Given the description of an element on the screen output the (x, y) to click on. 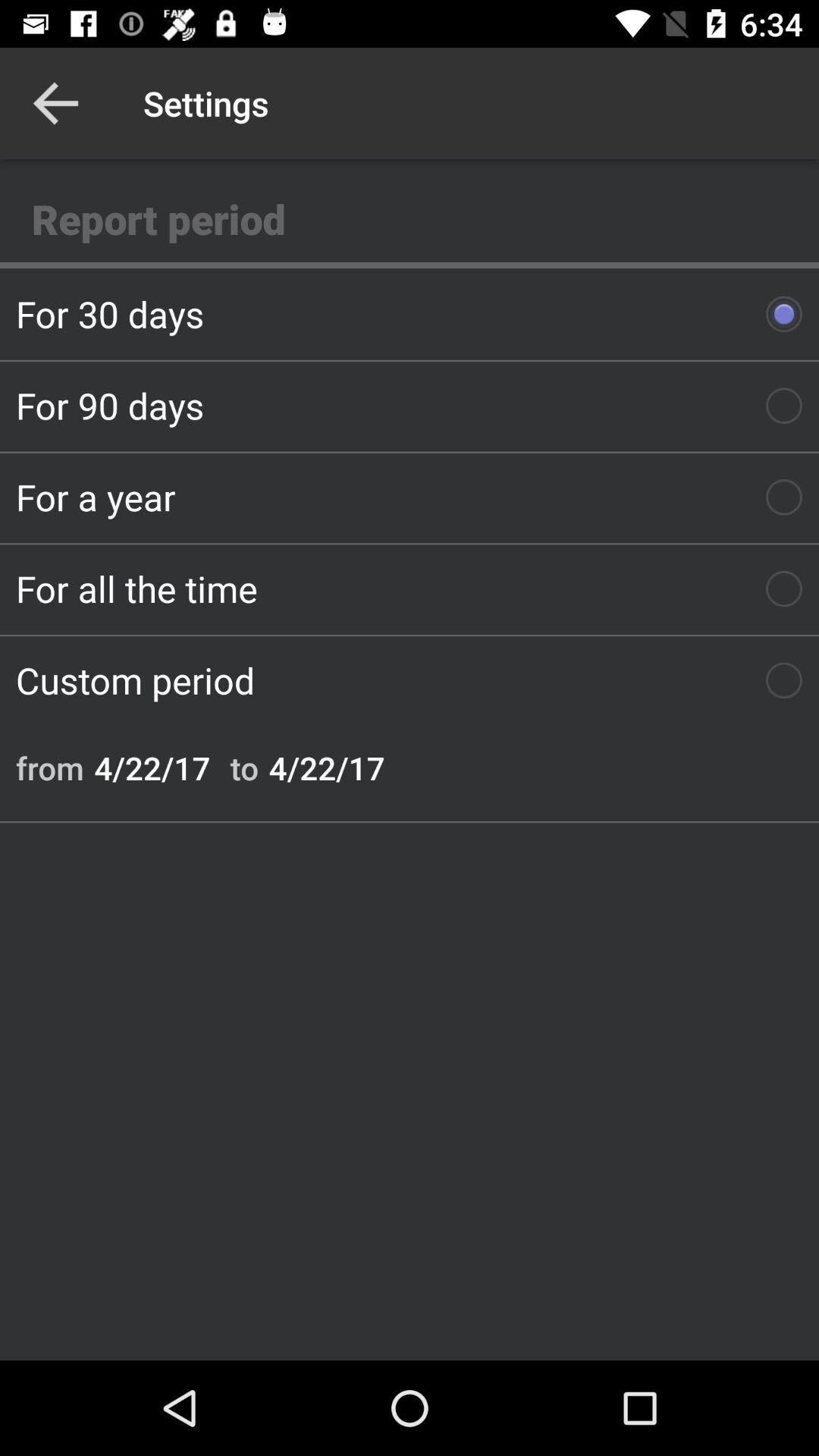
scroll until the to item (244, 767)
